Given the description of an element on the screen output the (x, y) to click on. 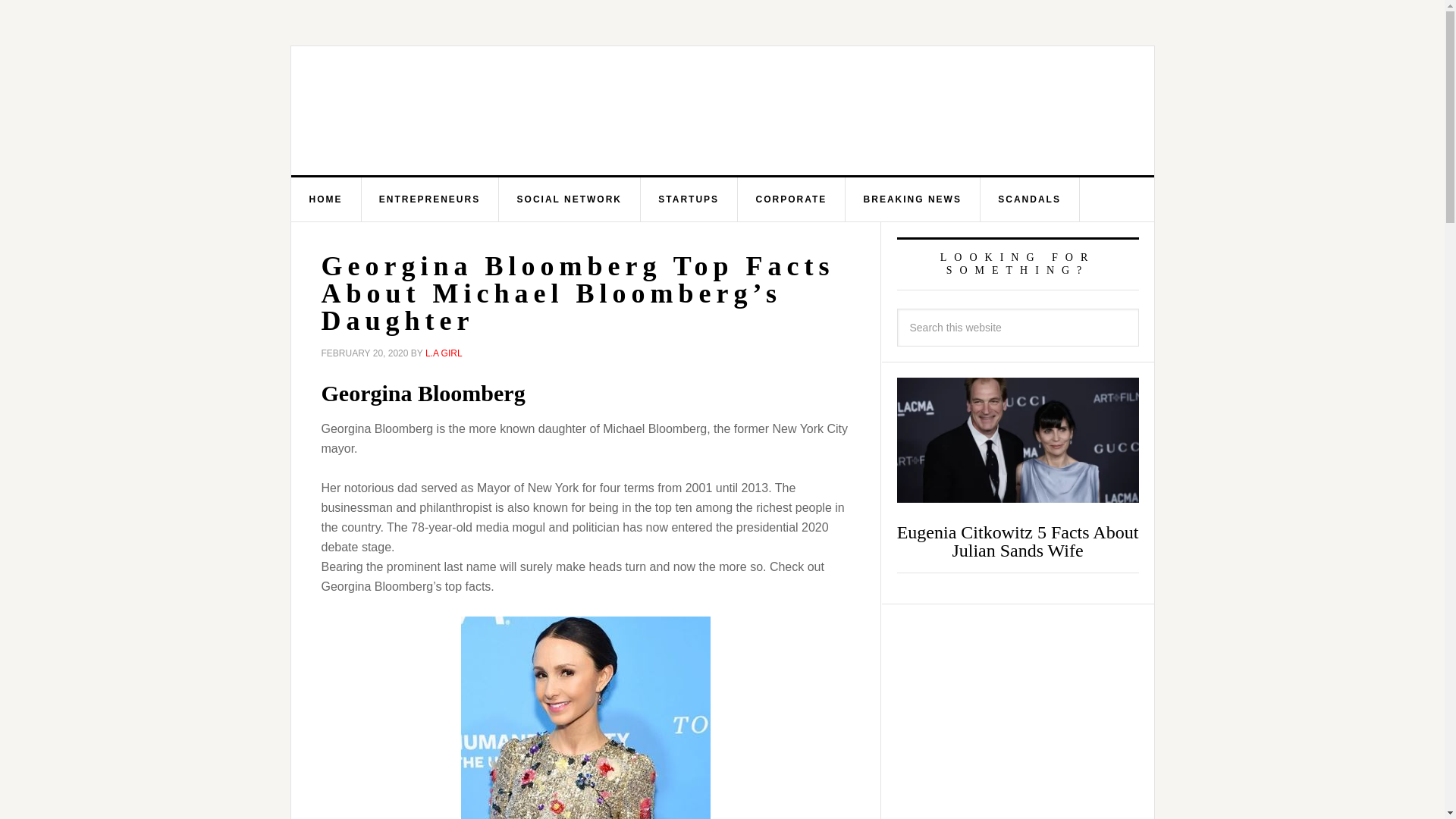
SCANDALS (1029, 199)
STARTUPS (689, 199)
BREAKING NEWS (912, 199)
ENTREPRENEURS (430, 199)
CORPORATE (790, 199)
WAGCENTER.COM (442, 110)
Eugenia Citkowitz 5 Facts About Julian Sands Wife (1017, 541)
L.A GIRL (444, 353)
HOME (326, 199)
